Given the description of an element on the screen output the (x, y) to click on. 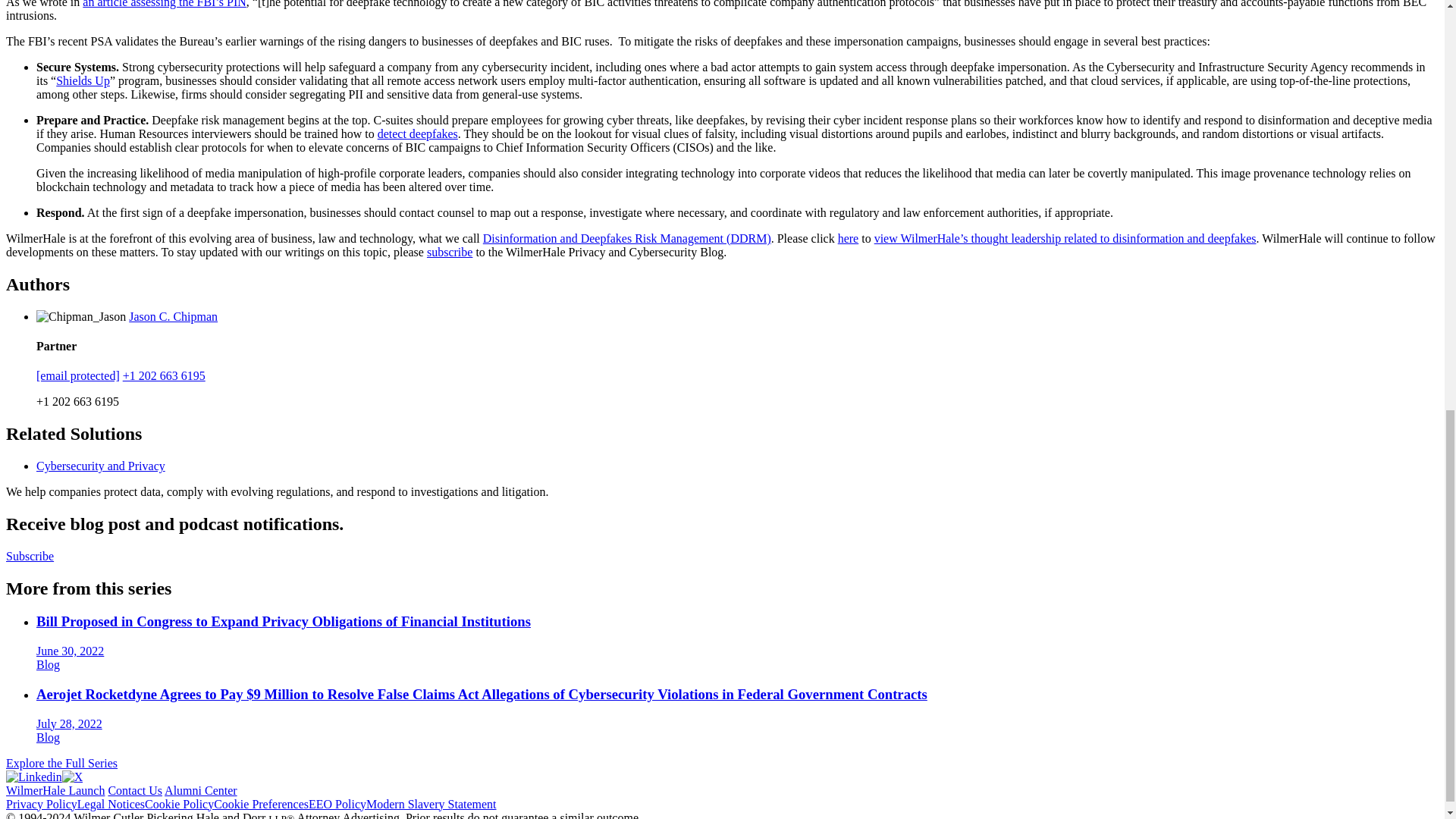
WilmerHale on LinkedIn (33, 776)
here (848, 237)
Shields Up (83, 80)
Jason C. Chipman (172, 315)
detect deepfakes (417, 133)
subscribe (448, 251)
WilmerHale on X (72, 776)
